Given the description of an element on the screen output the (x, y) to click on. 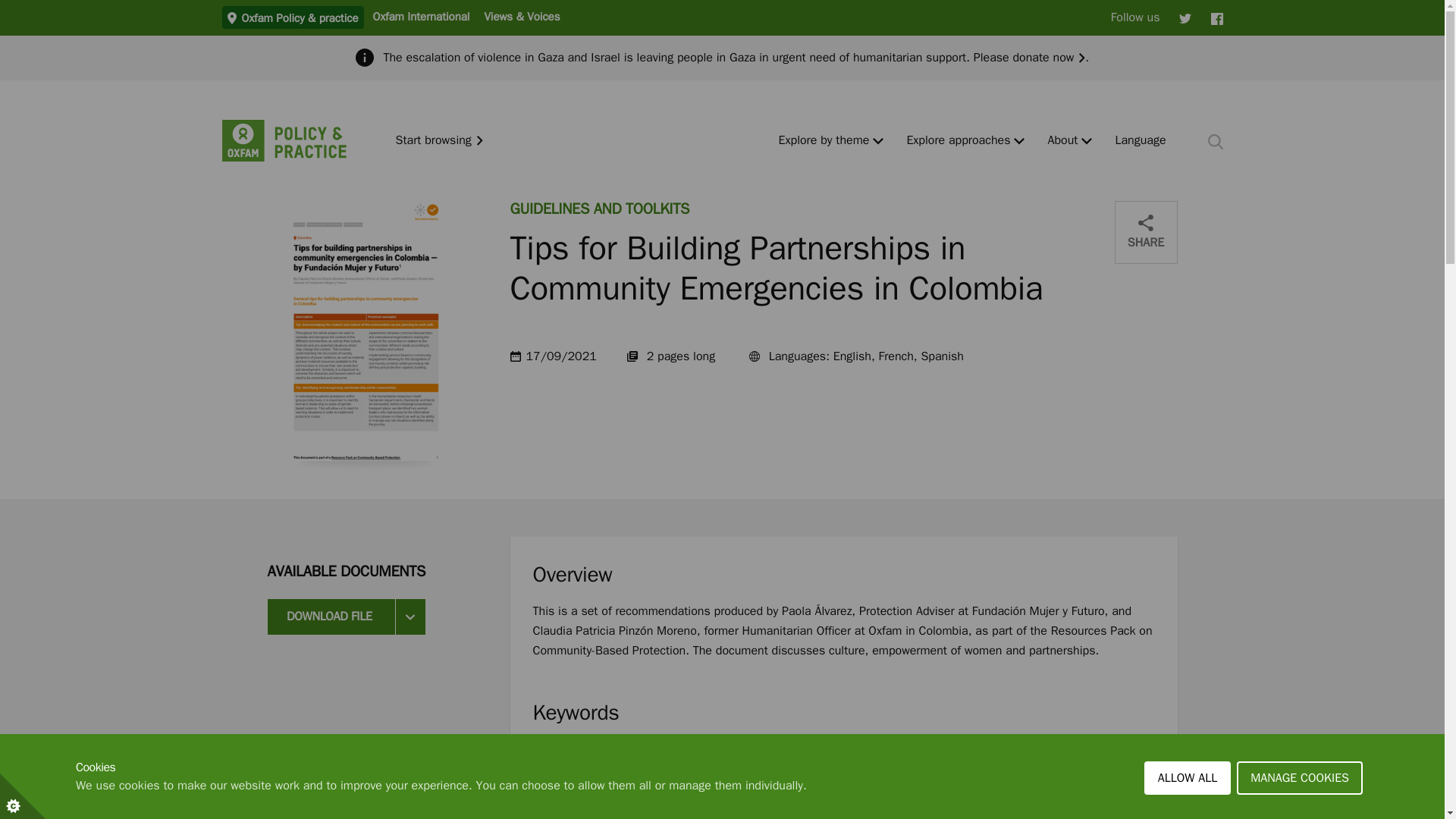
ALLOW ALL (1187, 815)
Explore by theme (823, 140)
Skip to content (11, 5)
Facebook (1216, 17)
Menu toggle (1086, 141)
English (1140, 140)
Explore approaches (957, 140)
Menu toggle (1019, 141)
MANAGE COOKIES (1299, 805)
About (1061, 140)
Twitter (1184, 17)
donate now (1047, 57)
Start browsing (439, 140)
Search (1215, 140)
Menu toggle (877, 141)
